Given the description of an element on the screen output the (x, y) to click on. 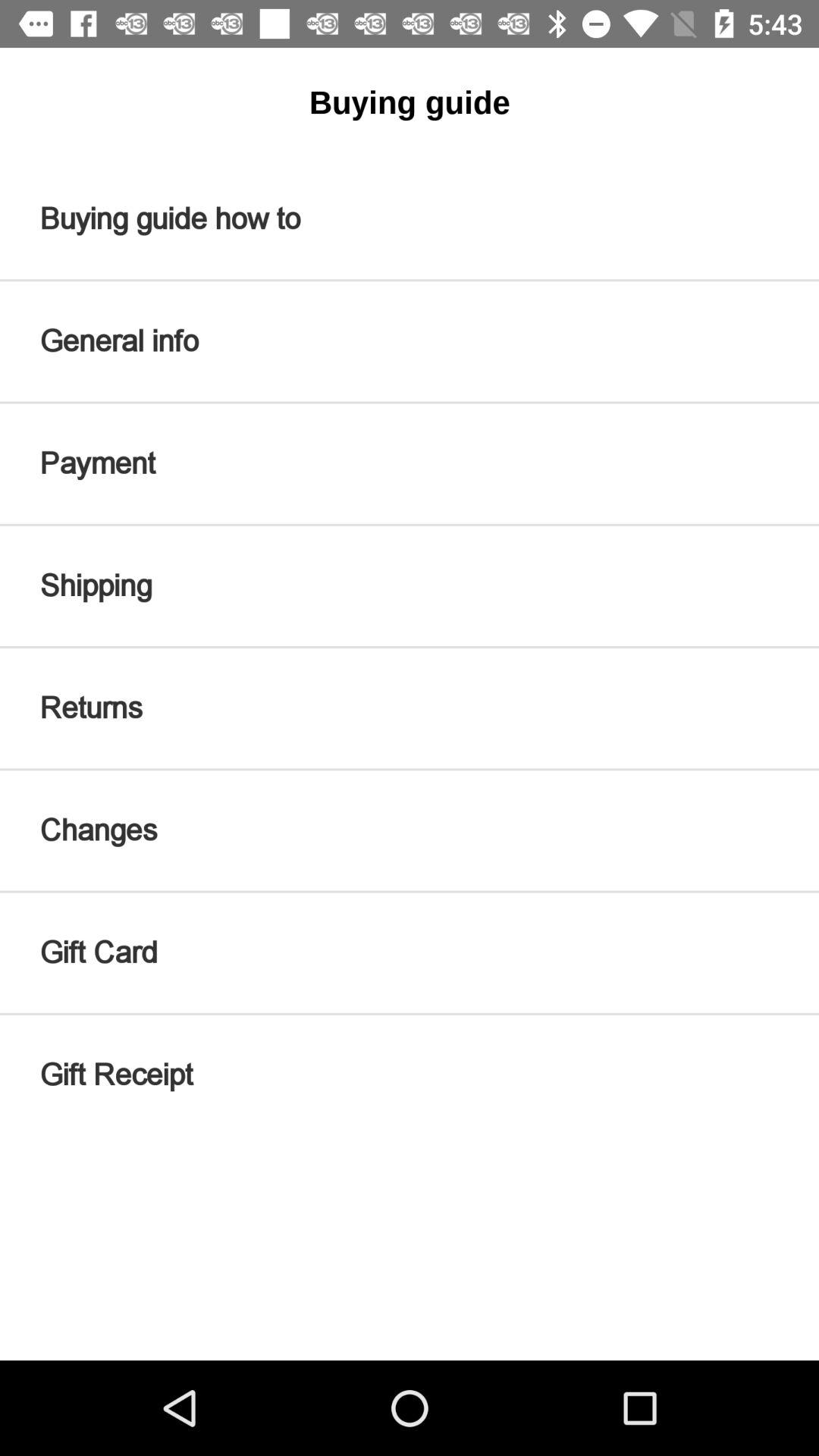
open gift receipt item (409, 1075)
